Given the description of an element on the screen output the (x, y) to click on. 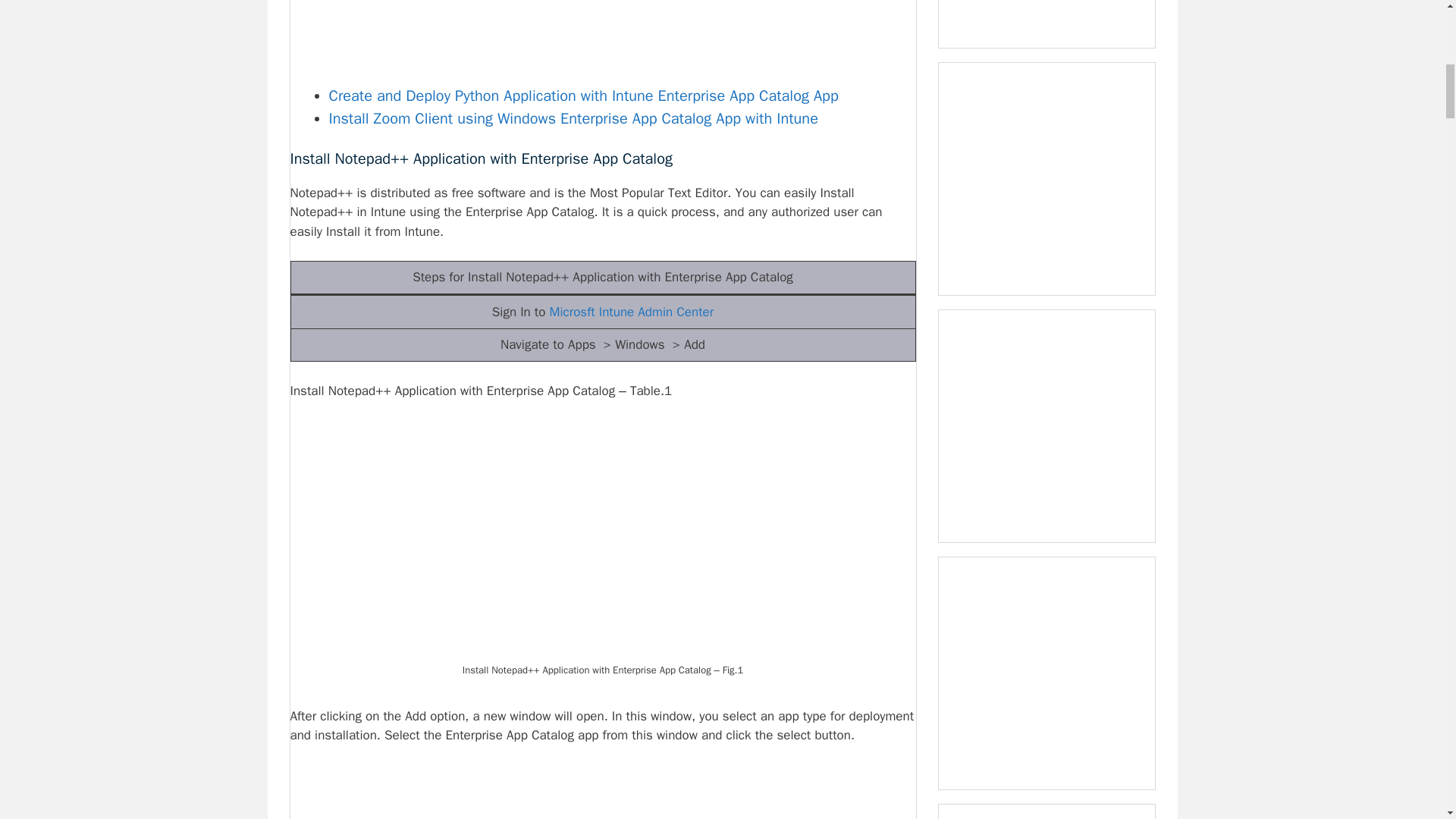
Microsft Intune Admin Center (632, 311)
